Given the description of an element on the screen output the (x, y) to click on. 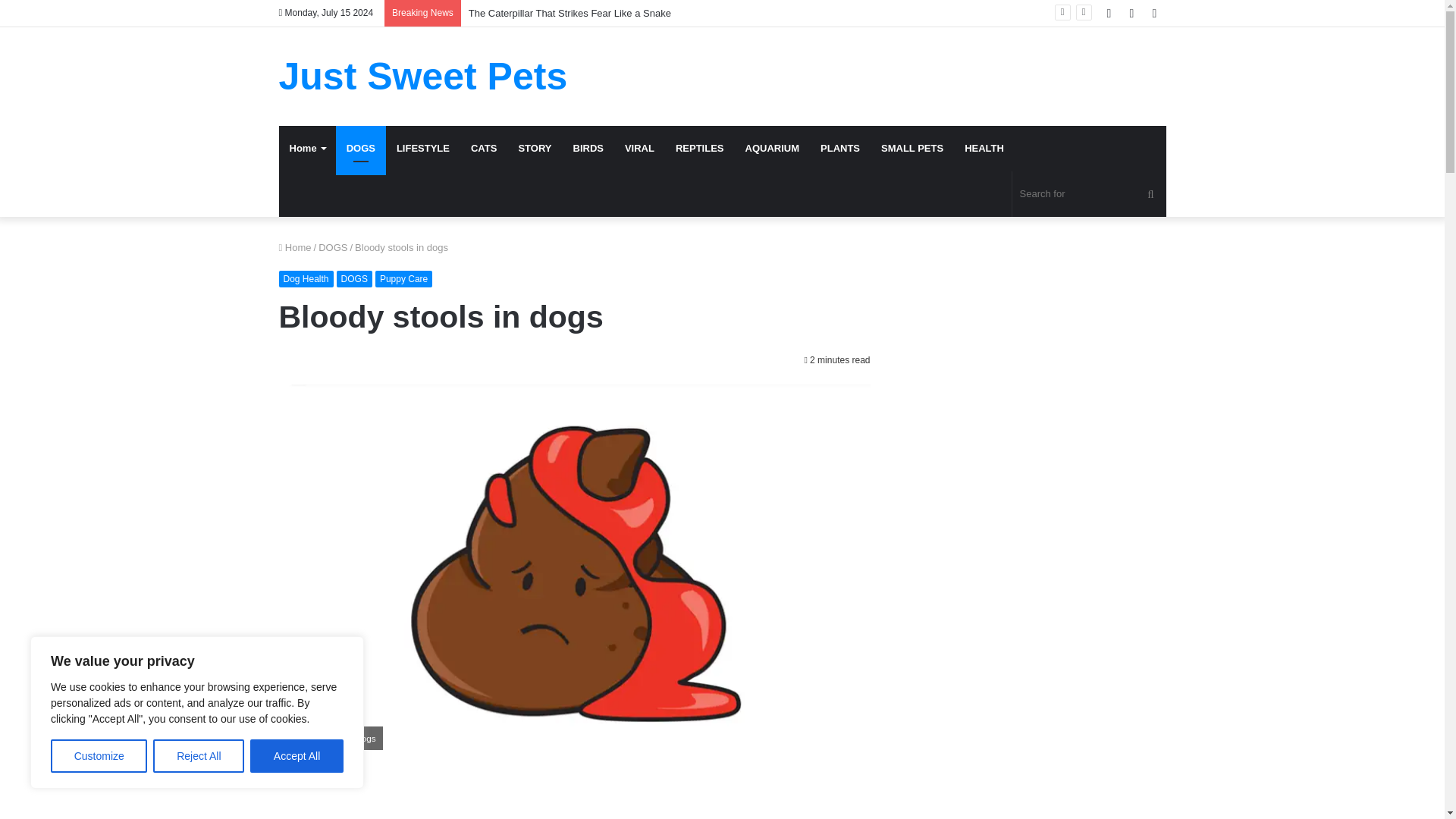
VIRAL (639, 148)
REPTILES (700, 148)
BIRDS (588, 148)
DOGS (354, 279)
AQUARIUM (772, 148)
Home (295, 247)
Customize (98, 756)
Search for (1088, 194)
Home (307, 148)
HEALTH (983, 148)
Accept All (296, 756)
DOGS (332, 247)
PLANTS (839, 148)
Just Sweet Pets (423, 76)
Just Sweet Pets (423, 76)
